Given the description of an element on the screen output the (x, y) to click on. 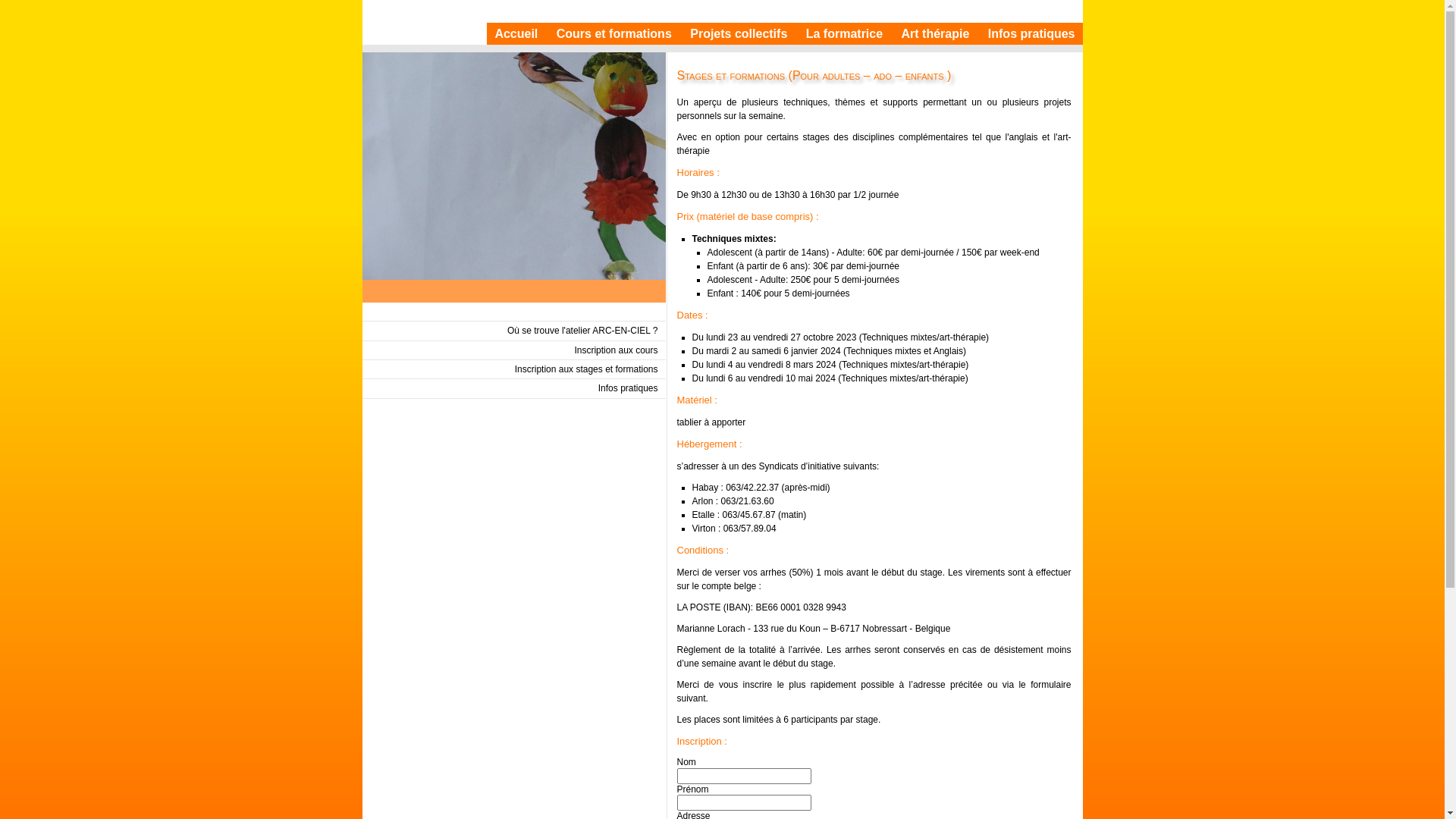
Infos pratiques Element type: text (1031, 33)
Projets collectifs Element type: text (738, 33)
Inscription aux cours Element type: text (615, 350)
Accueil Element type: text (515, 33)
La formatrice Element type: text (844, 33)
Infos pratiques Element type: text (628, 387)
Inscription aux stages et formations Element type: text (586, 369)
Cours et formations Element type: text (614, 33)
